Given the description of an element on the screen output the (x, y) to click on. 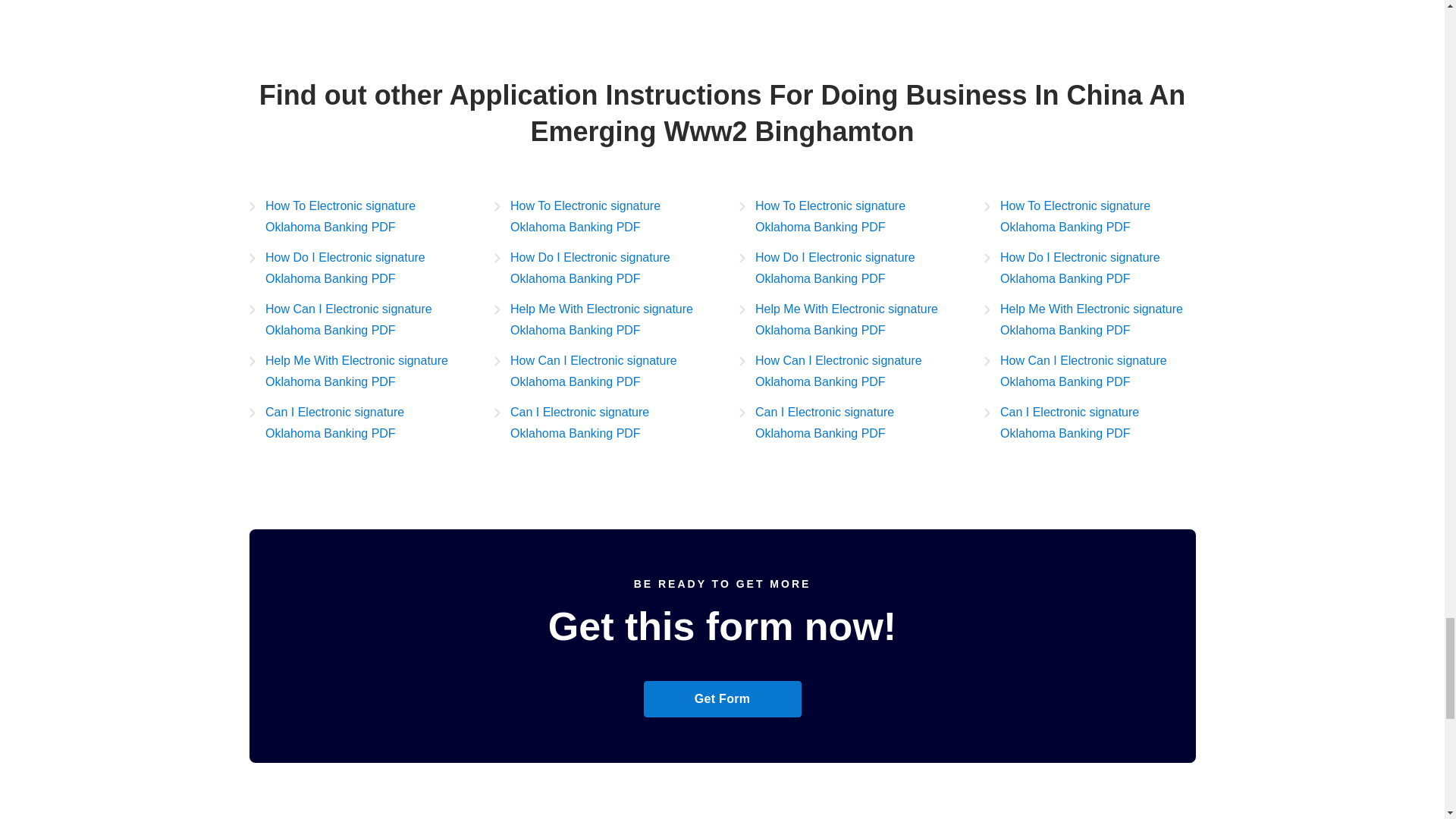
Can I Electronic signature Oklahoma Banking PDF (600, 423)
Help Me With Electronic signature Oklahoma Banking PDF (600, 319)
How Can I Electronic signature Oklahoma Banking PDF (354, 319)
How Do I Electronic signature Oklahoma Banking PDF (600, 268)
Can I Electronic signature Oklahoma Banking PDF (354, 423)
How To Electronic signature Oklahoma Banking PDF (844, 216)
Help Me With Electronic signature Oklahoma Banking PDF (354, 371)
How To Electronic signature Oklahoma Banking PDF (354, 216)
How Do I Electronic signature Oklahoma Banking PDF (354, 268)
How Can I Electronic signature Oklahoma Banking PDF (600, 371)
